Given the description of an element on the screen output the (x, y) to click on. 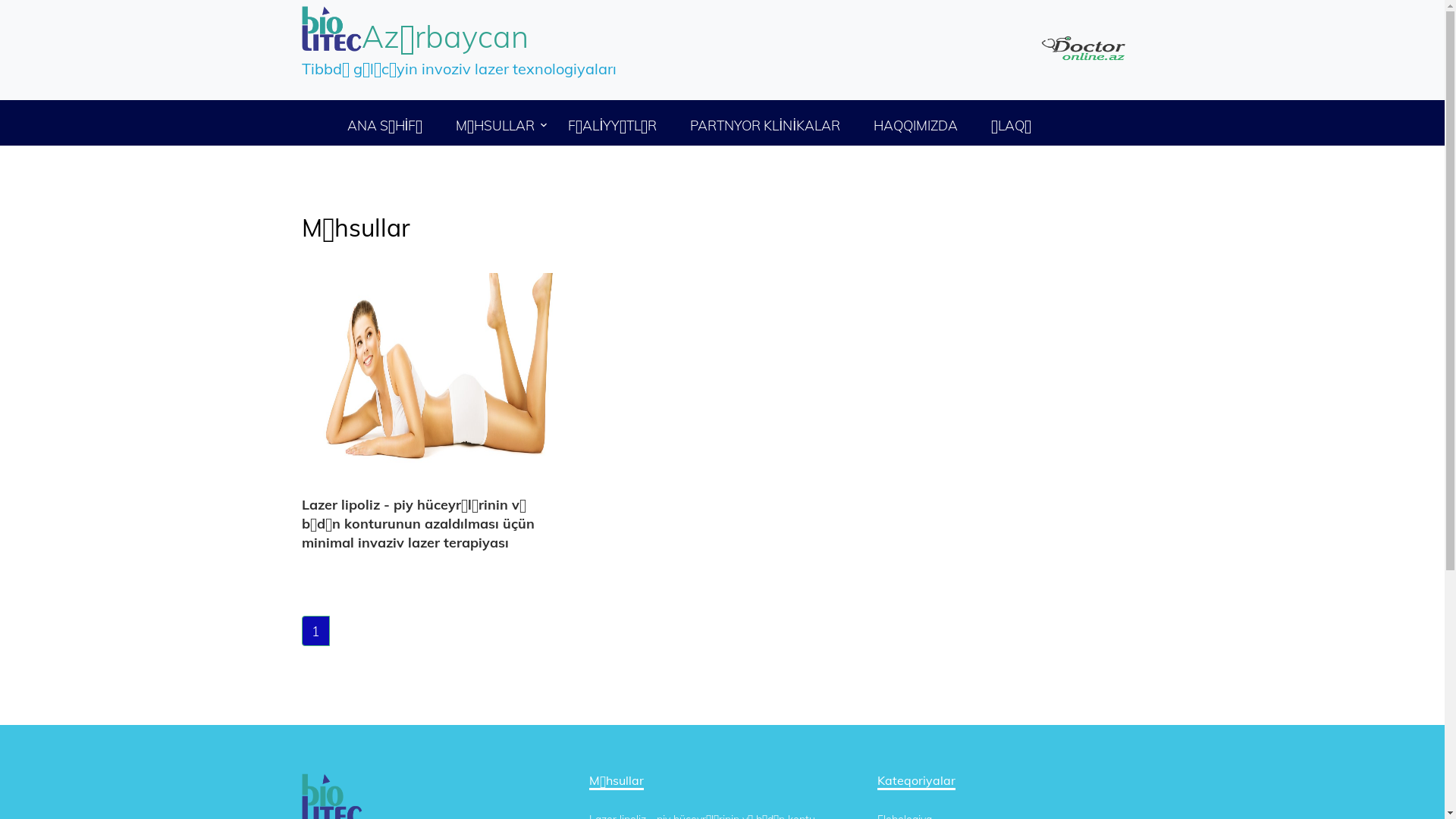
0 Element type: text (517, 597)
0 Element type: text (517, 563)
0 Element type: text (517, 322)
0 Element type: text (517, 185)
0 Element type: text (517, 459)
0 Element type: text (517, 493)
HAQQIMIZDA Element type: text (915, 125)
0 Element type: text (517, 425)
0 Element type: text (517, 288)
0 Element type: text (517, 220)
0 Element type: text (517, 356)
0 Element type: text (517, 528)
0 Element type: text (517, 254)
0 Element type: text (517, 391)
